Given the description of an element on the screen output the (x, y) to click on. 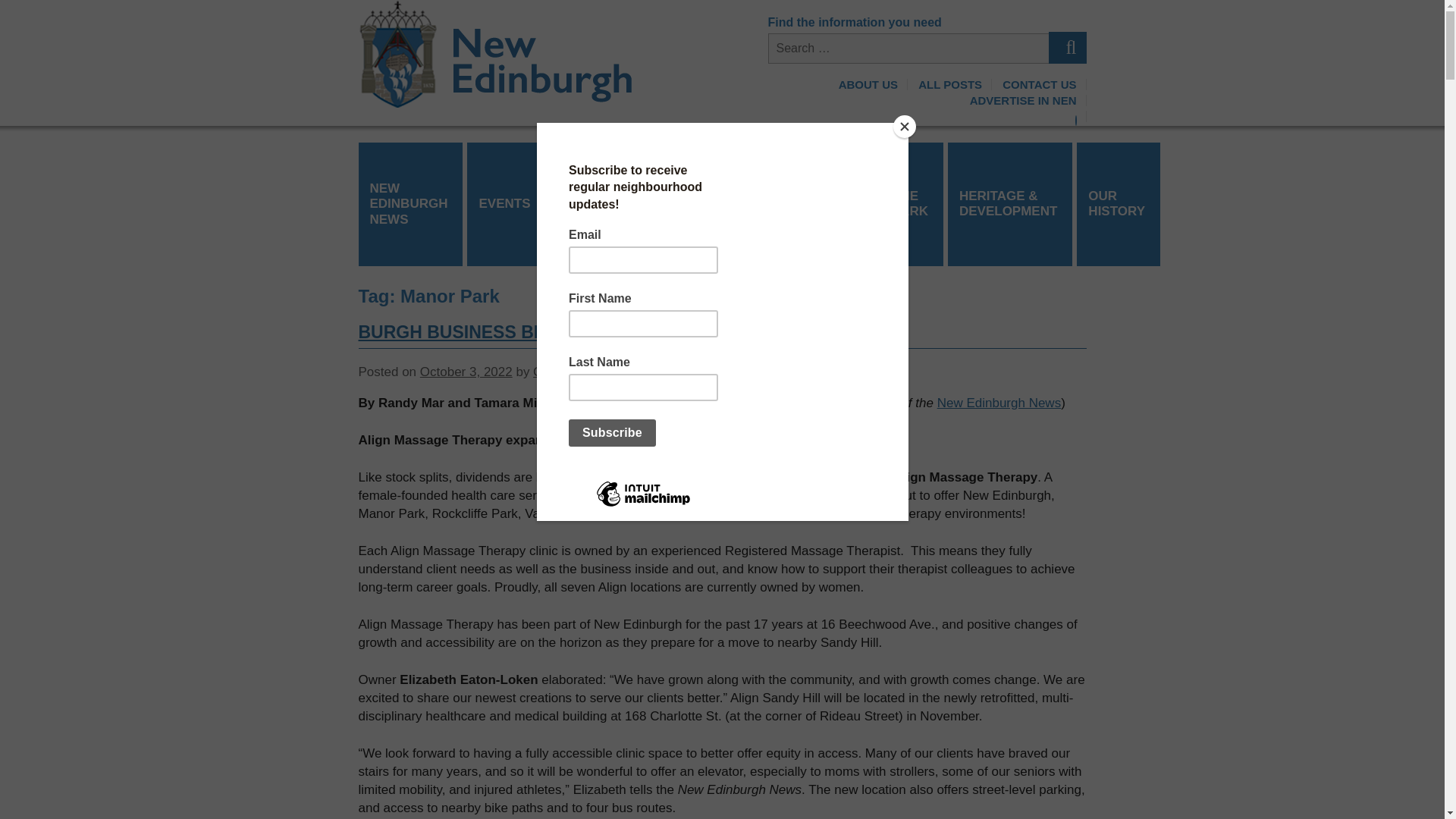
ABOUT US (868, 83)
CONTACT US (1038, 83)
THE PARK (911, 204)
Search (1067, 47)
OUR HISTORY (1118, 204)
New Edinburgh News (999, 402)
NEW EDINBURGH NEWS (410, 204)
October 3, 2022 (466, 371)
ADVERTISE IN NEN (1023, 100)
Search (1067, 47)
Search (1067, 47)
ALL POSTS (950, 83)
EVENTS (505, 203)
Christina Leadlay (581, 371)
